Given the description of an element on the screen output the (x, y) to click on. 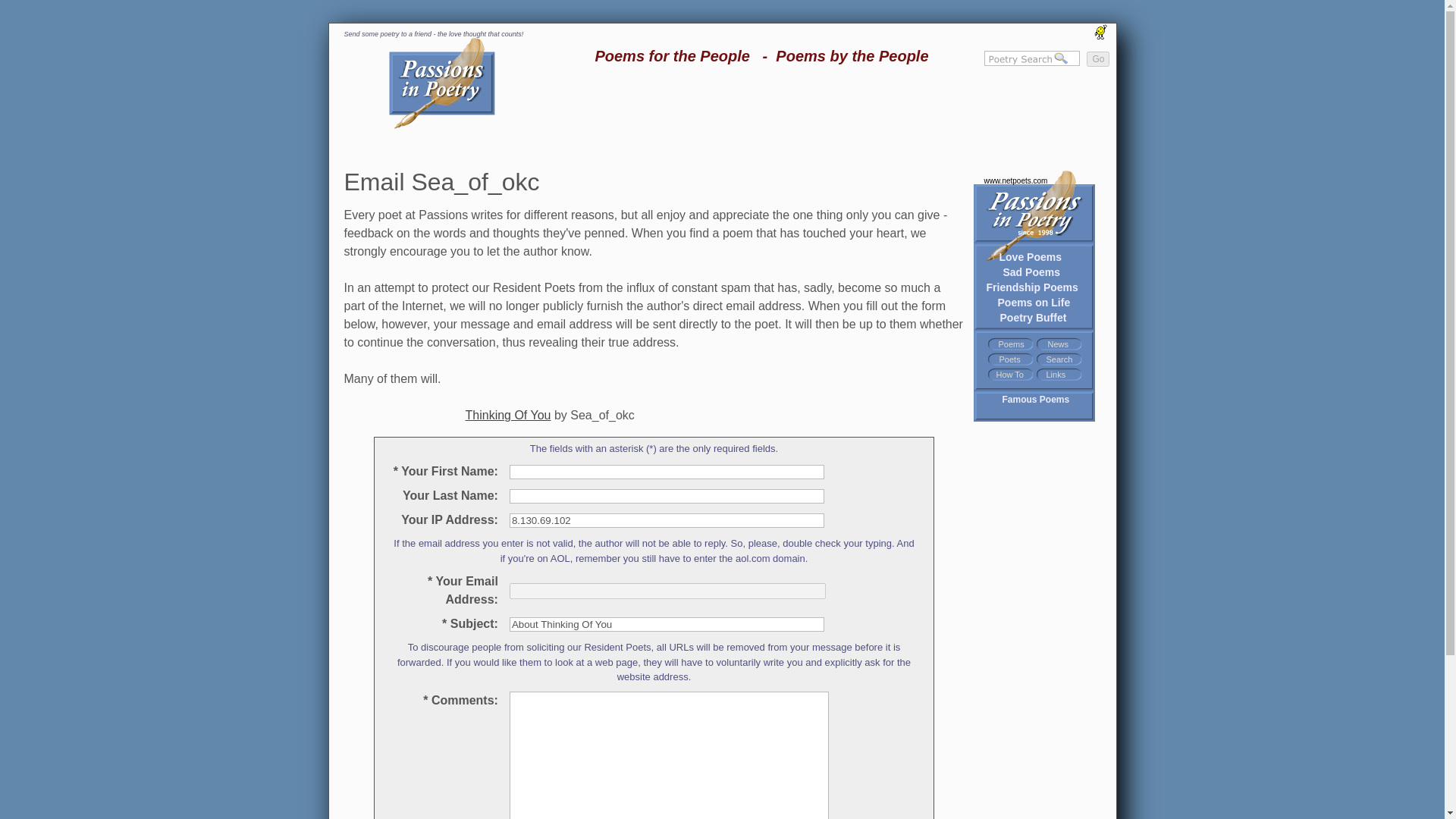
About Thinking Of You (666, 624)
Famous Poems (1036, 399)
Love Poems (1029, 256)
How to Write Better Poetry (1009, 374)
NetPoets Links (1055, 374)
Poetry Buffet (1031, 317)
How To (1009, 374)
Sad Poems (1031, 271)
Friendship Poems (1031, 286)
Go (1097, 58)
return to poem (508, 413)
Poems (1010, 344)
Poetry Categories Site Map (1010, 344)
Find an Author (1009, 359)
Thinking Of You (508, 413)
